Given the description of an element on the screen output the (x, y) to click on. 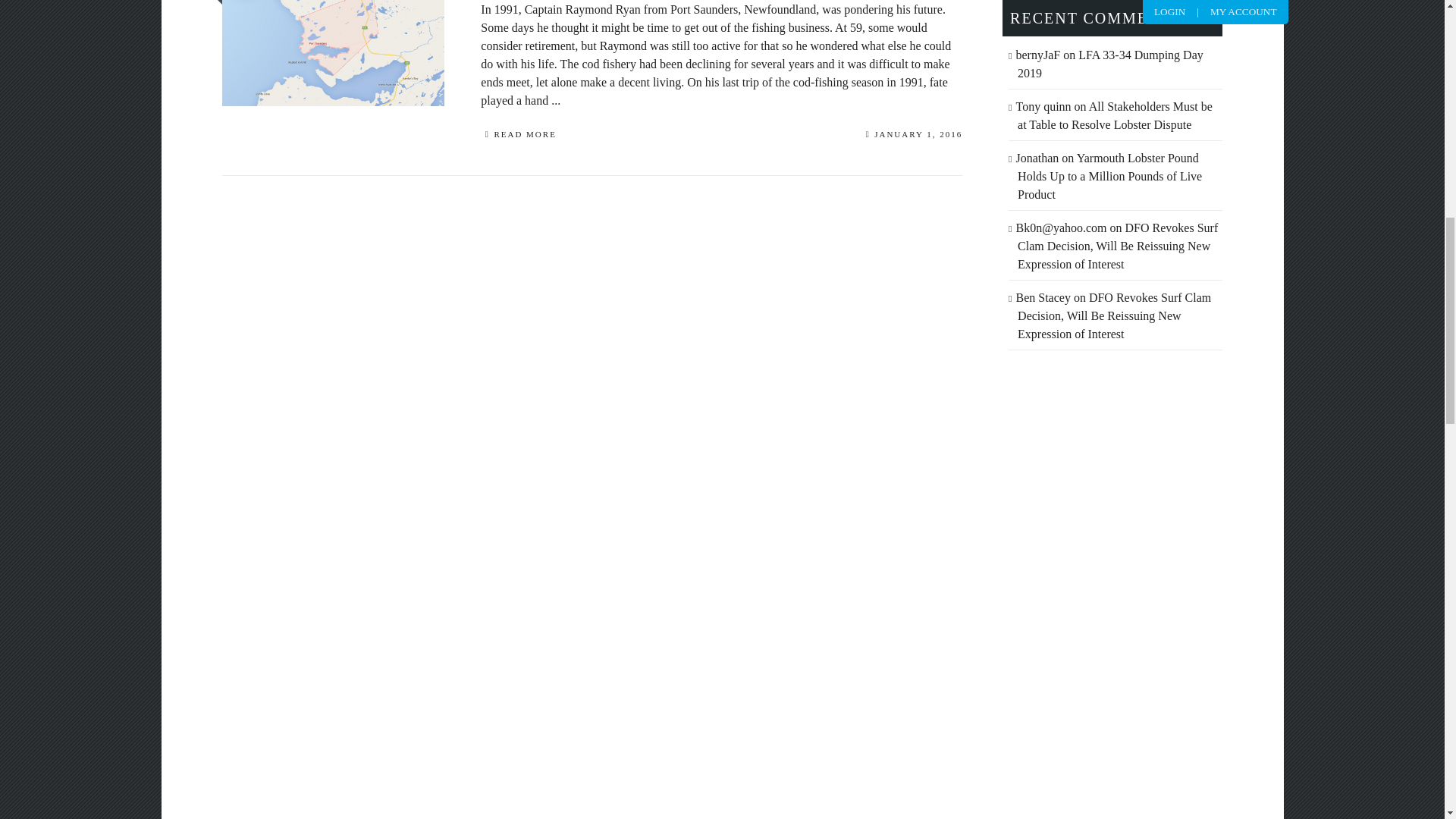
As Luck Would Have it (721, 7)
